Given the description of an element on the screen output the (x, y) to click on. 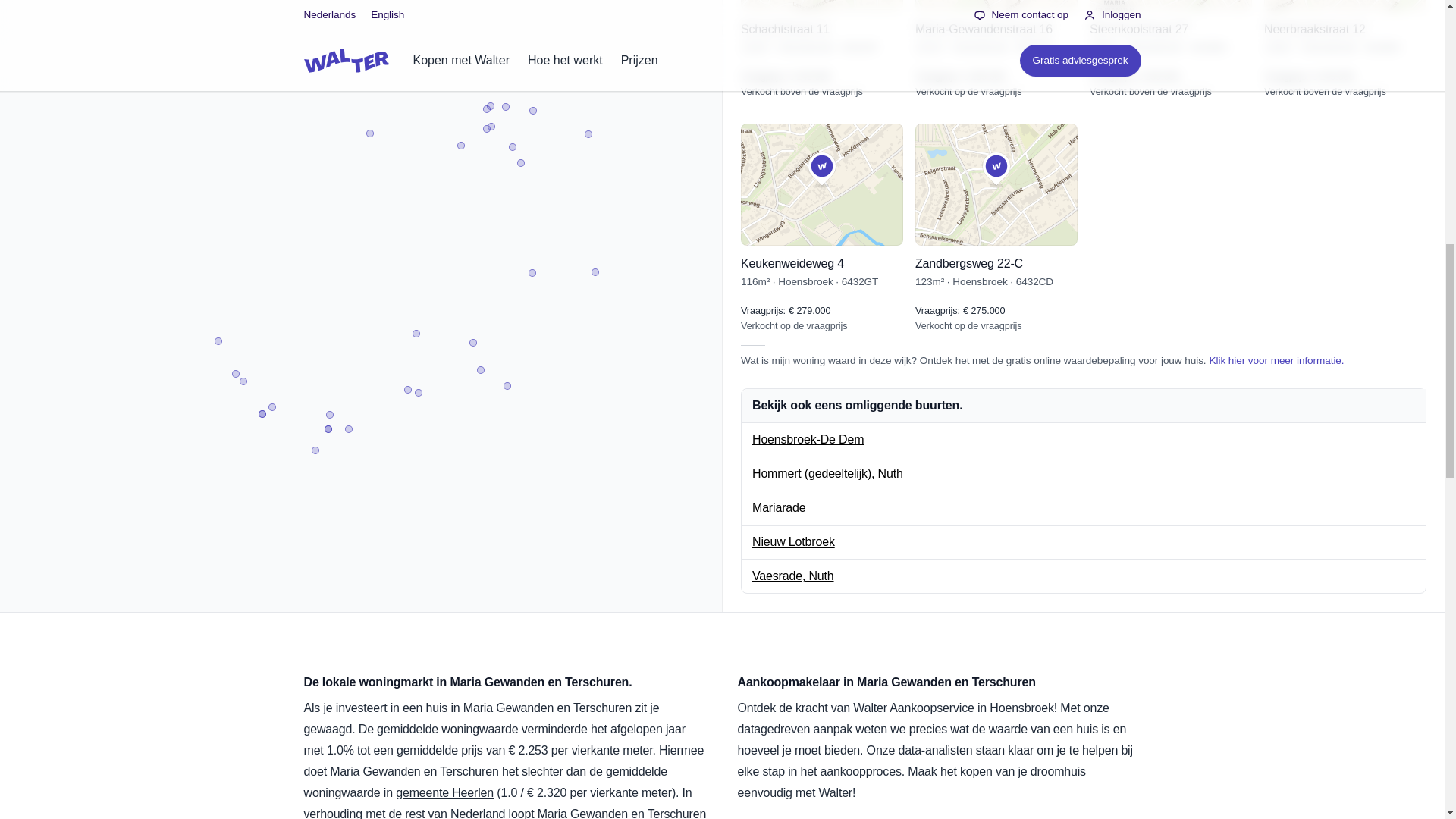
Neerbraakstraat 12, Hoensbroek (1344, 49)
Schachtstraat 11, Hoensbroek (821, 49)
Maria-Gewandenstraat 16, Hoensbroek (996, 49)
Steenkoolstraat 27, Hoensbroek (1170, 49)
